Given the description of an element on the screen output the (x, y) to click on. 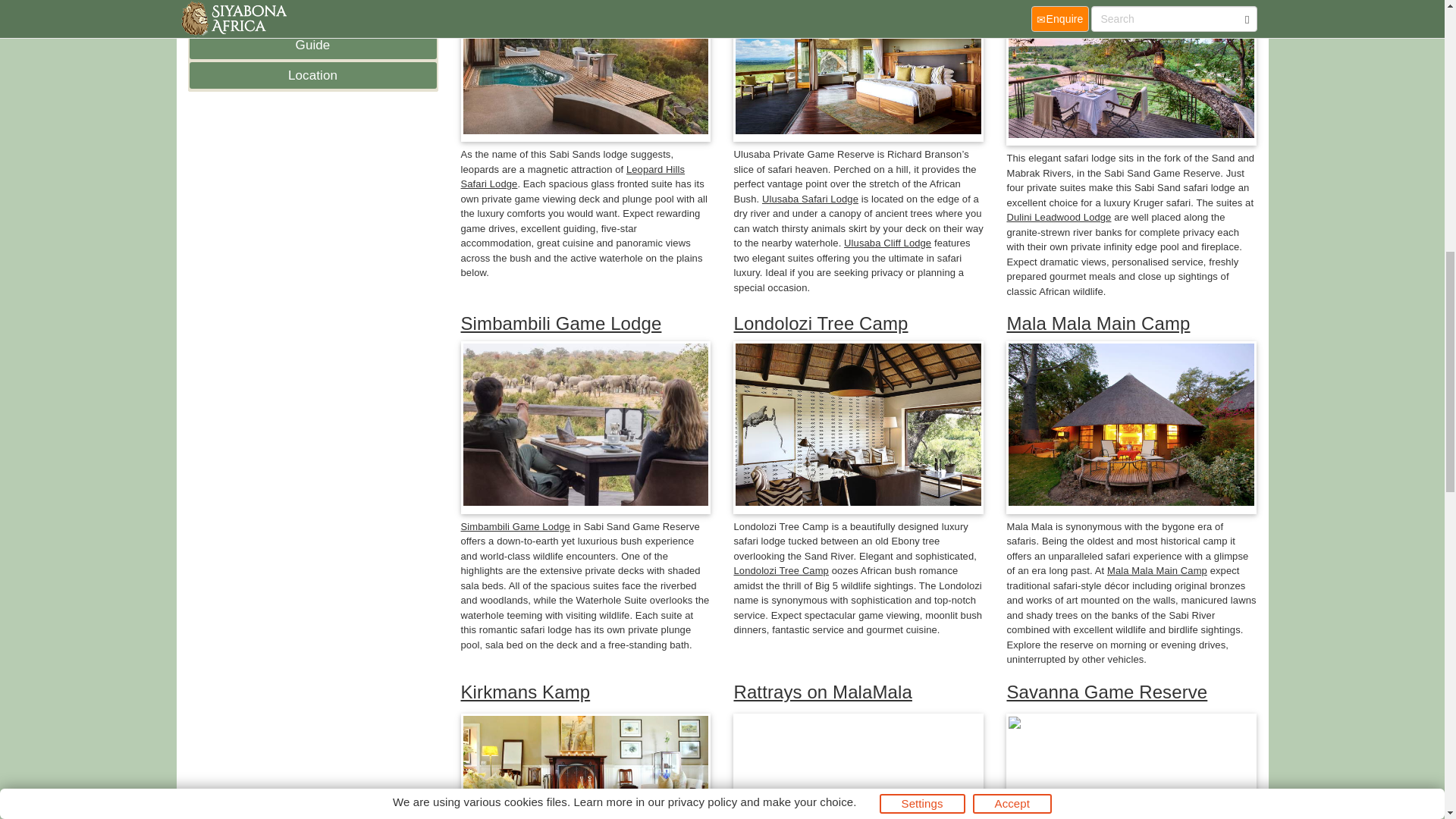
Ulusaba Cliff Lodge (887, 242)
Londolozi Tree Camp (820, 322)
Leopard Hills Safari Lodge (573, 176)
Londolozi Tree Camp (780, 570)
Guide (312, 44)
Dulini Leadwood Lodge (1058, 216)
Family Gems (312, 12)
Ulusaba Safari Lodge (810, 198)
Simbambili Game Lodge (561, 322)
Simbambili Game Lodge (515, 526)
